Given the description of an element on the screen output the (x, y) to click on. 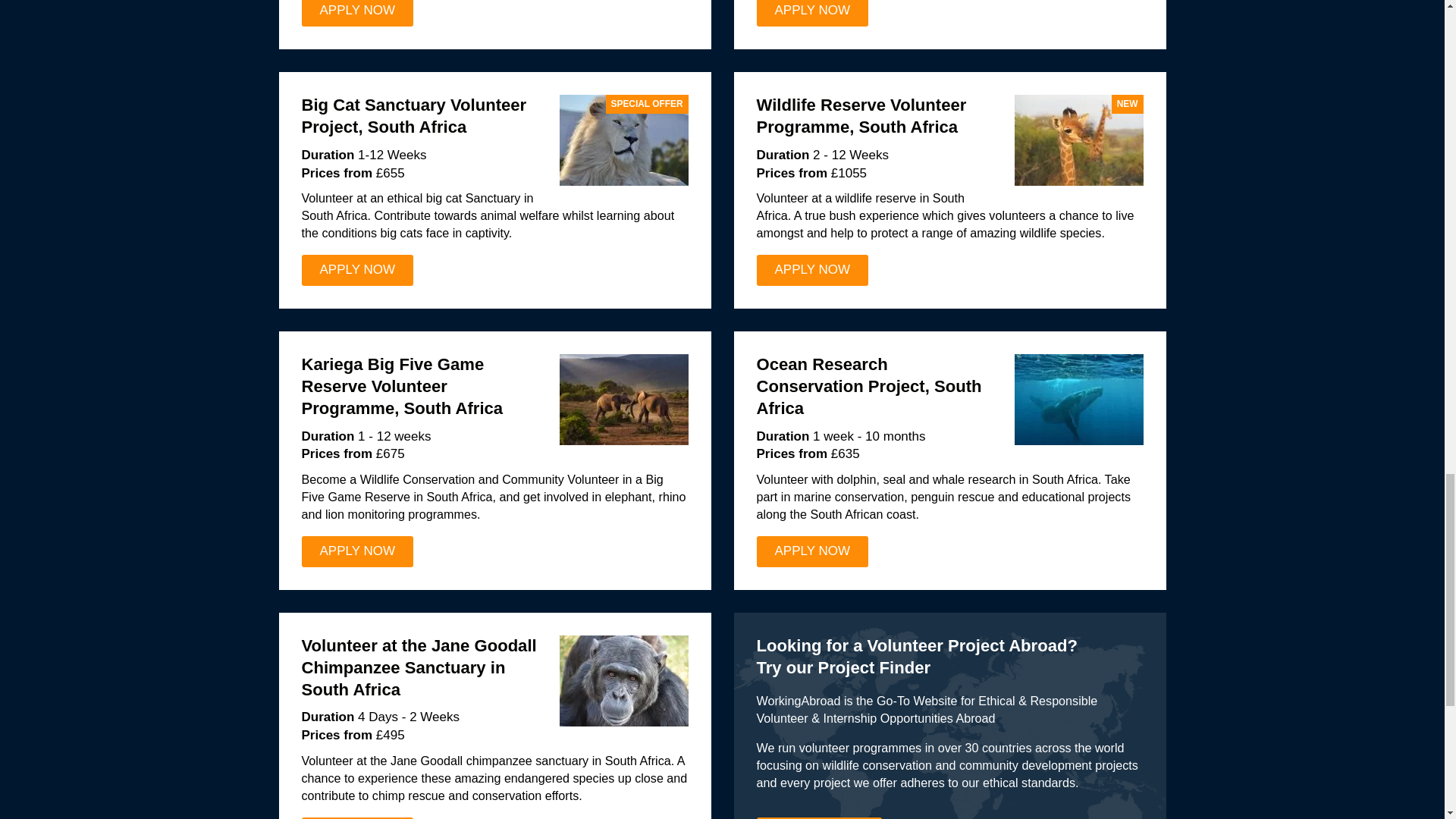
APPLY NOW (357, 551)
NEW (1078, 140)
Ocean Research Conservation Project, South Africa (869, 385)
APPLY NOW (813, 13)
SPECIAL OFFER (623, 140)
Wildlife Reserve Volunteer Programme, South Africa (861, 115)
APPLY NOW (357, 13)
Big Cat Sanctuary Volunteer Project, South Africa (414, 115)
APPLY NOW (813, 269)
APPLY NOW (357, 269)
